Given the description of an element on the screen output the (x, y) to click on. 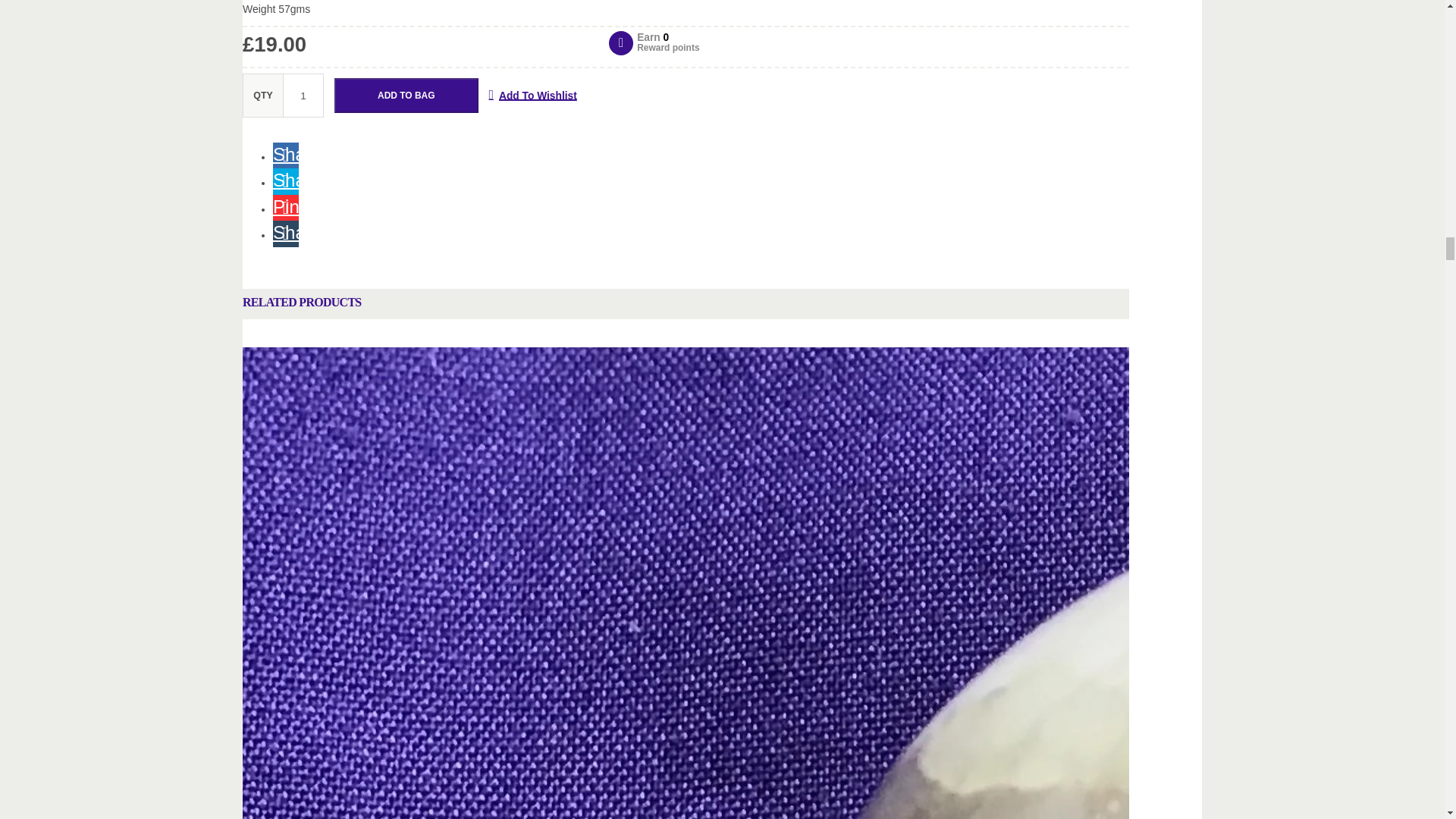
1 (302, 95)
